Given the description of an element on the screen output the (x, y) to click on. 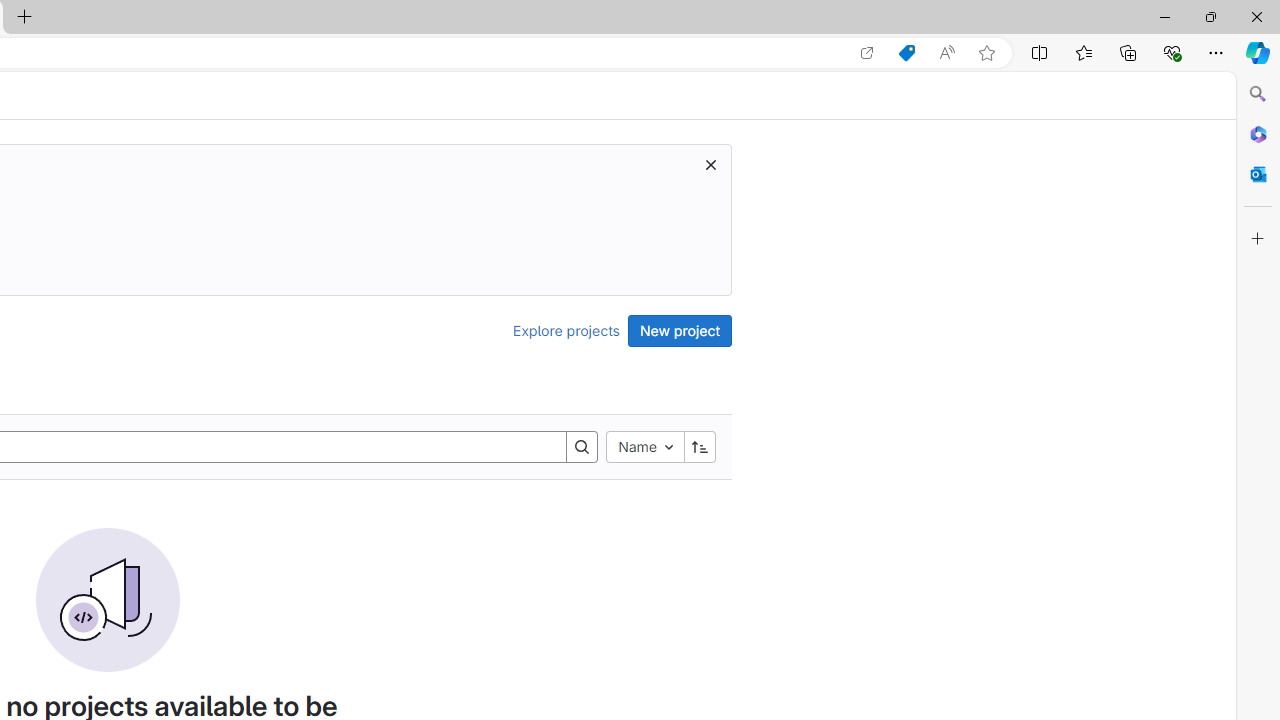
Explore projects (565, 330)
